Given the description of an element on the screen output the (x, y) to click on. 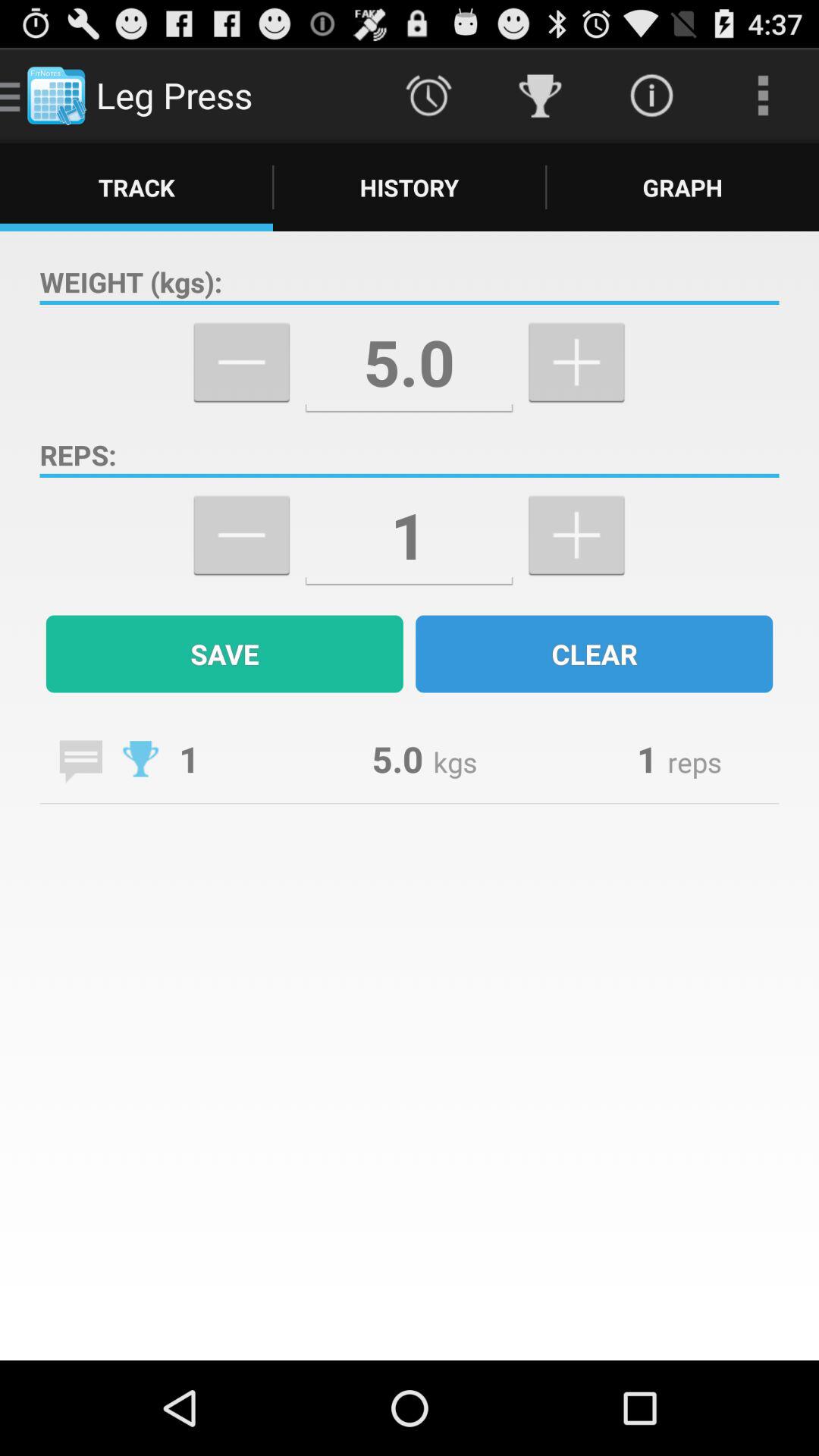
write a message (80, 761)
